Given the description of an element on the screen output the (x, y) to click on. 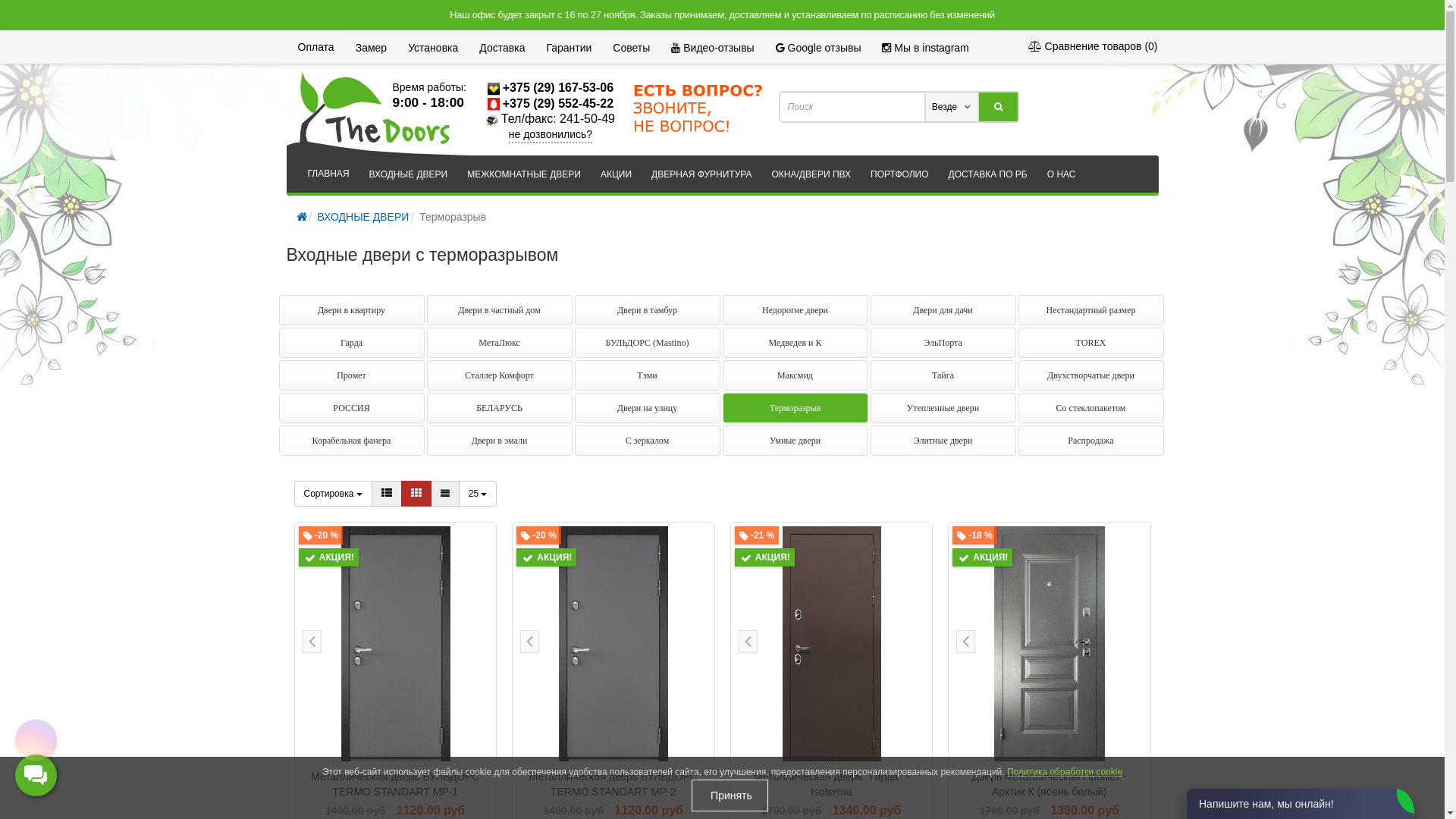
+375 (29) 552-45-22 Element type: text (557, 103)
TOREX Element type: text (1090, 342)
25 Element type: text (477, 493)
+375 (29) 167-53-06 Element type: text (557, 87)
